Given the description of an element on the screen output the (x, y) to click on. 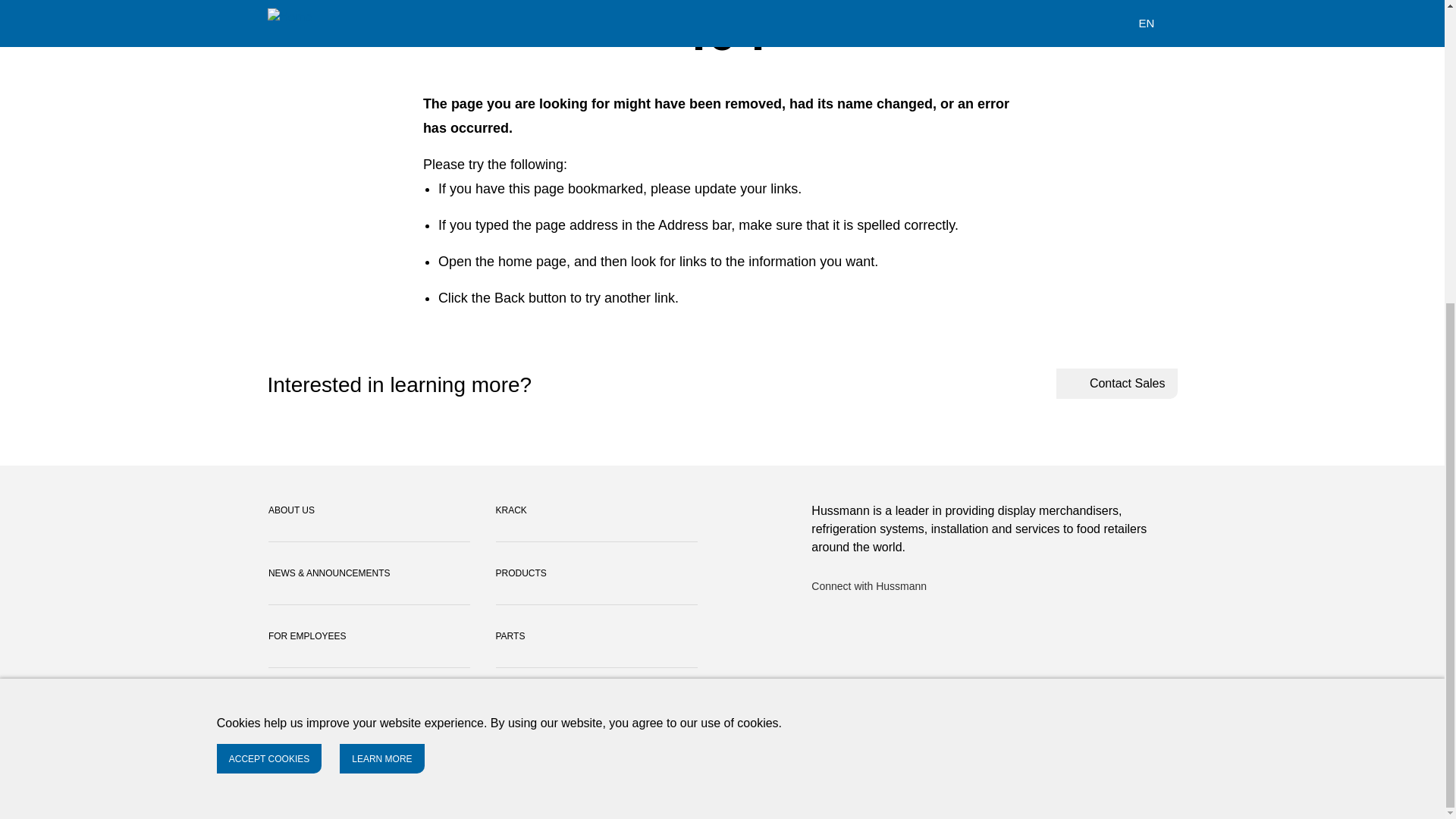
LEARN MORE (381, 284)
ACCEPT COOKIES (268, 284)
